Given the description of an element on the screen output the (x, y) to click on. 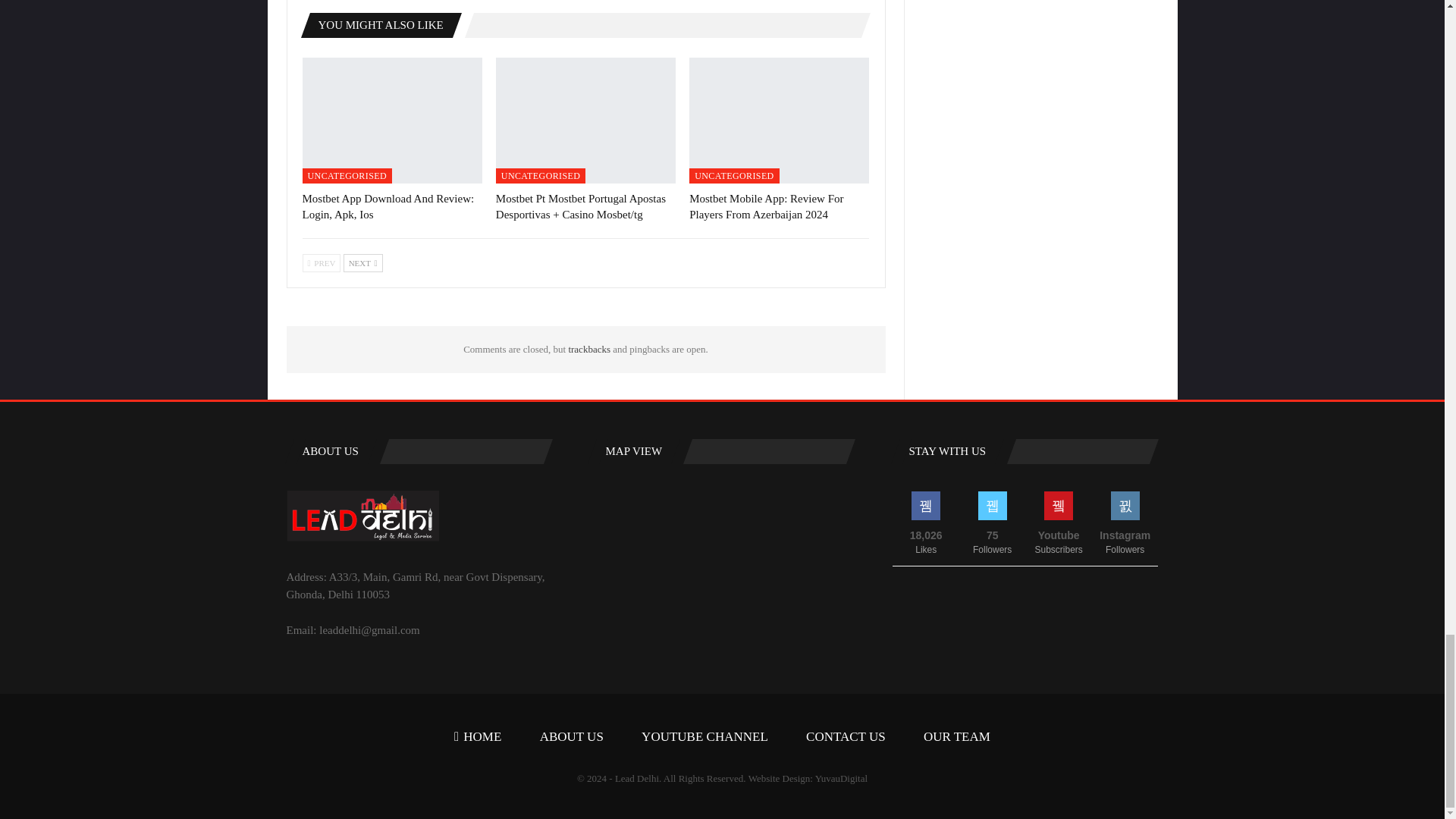
Next (362, 262)
Mostbet App Download And Review: Login, Apk, Ios (387, 206)
Previous (320, 262)
Mostbet Mobile App: Review For Players From Azerbaijan 2024 (765, 206)
